Given the description of an element on the screen output the (x, y) to click on. 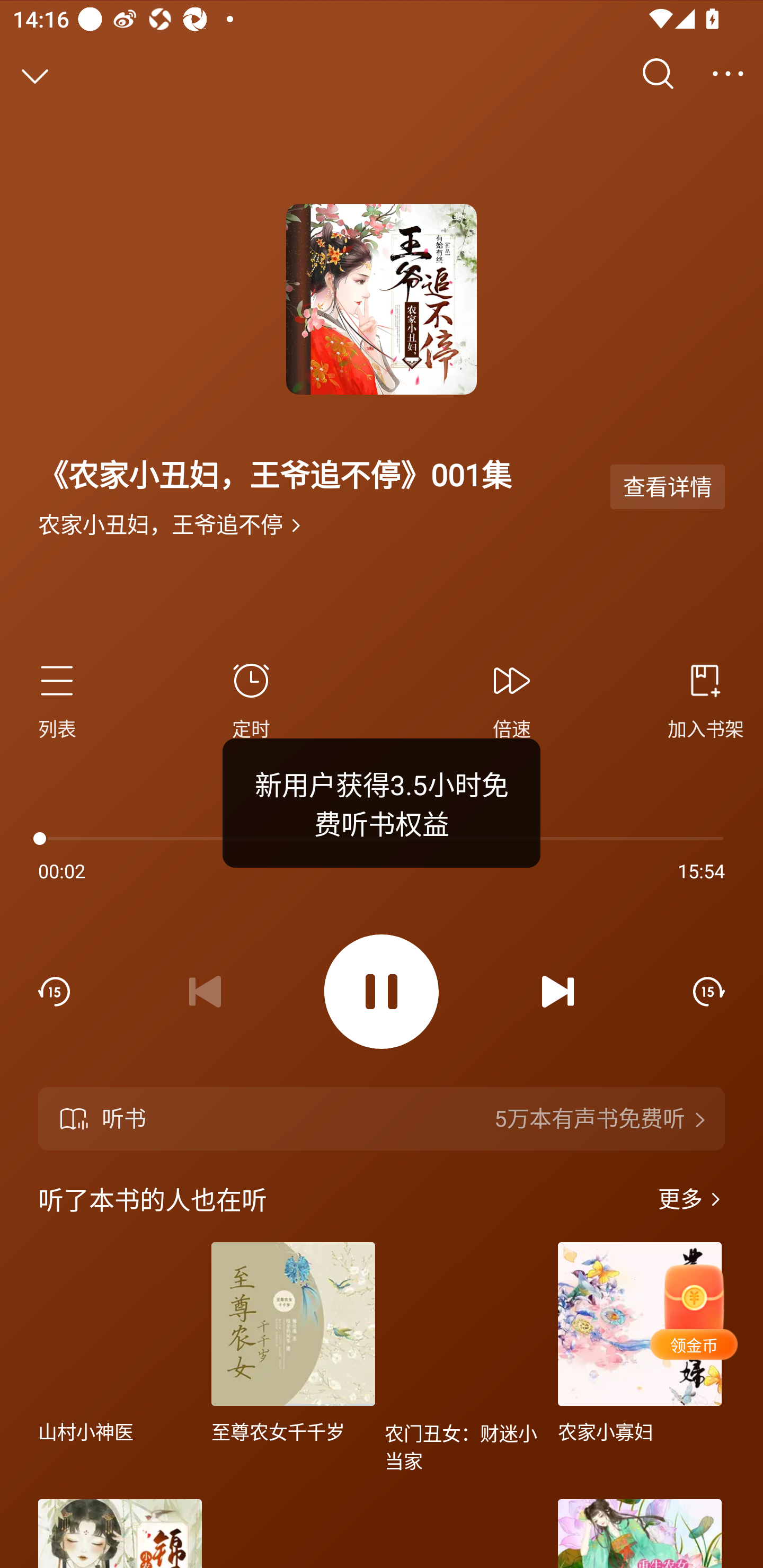
返回 (35, 73)
搜索 (657, 73)
更多 (727, 73)
查看详情 查看详情，按钮 (667, 486)
列表，按钮 列表 (64, 698)
定时，按钮 定时 (250, 698)
倍速，按钮 倍速 (511, 698)
加入书架，按钮 加入书架 (697, 698)
暂停 (381, 991)
后退十五秒 (53, 991)
上一篇 (204, 991)
下一篇 (557, 991)
前进十五秒 (708, 991)
听书 5万本有声书免费听 (381, 1118)
更多 (690, 1199)
